Given the description of an element on the screen output the (x, y) to click on. 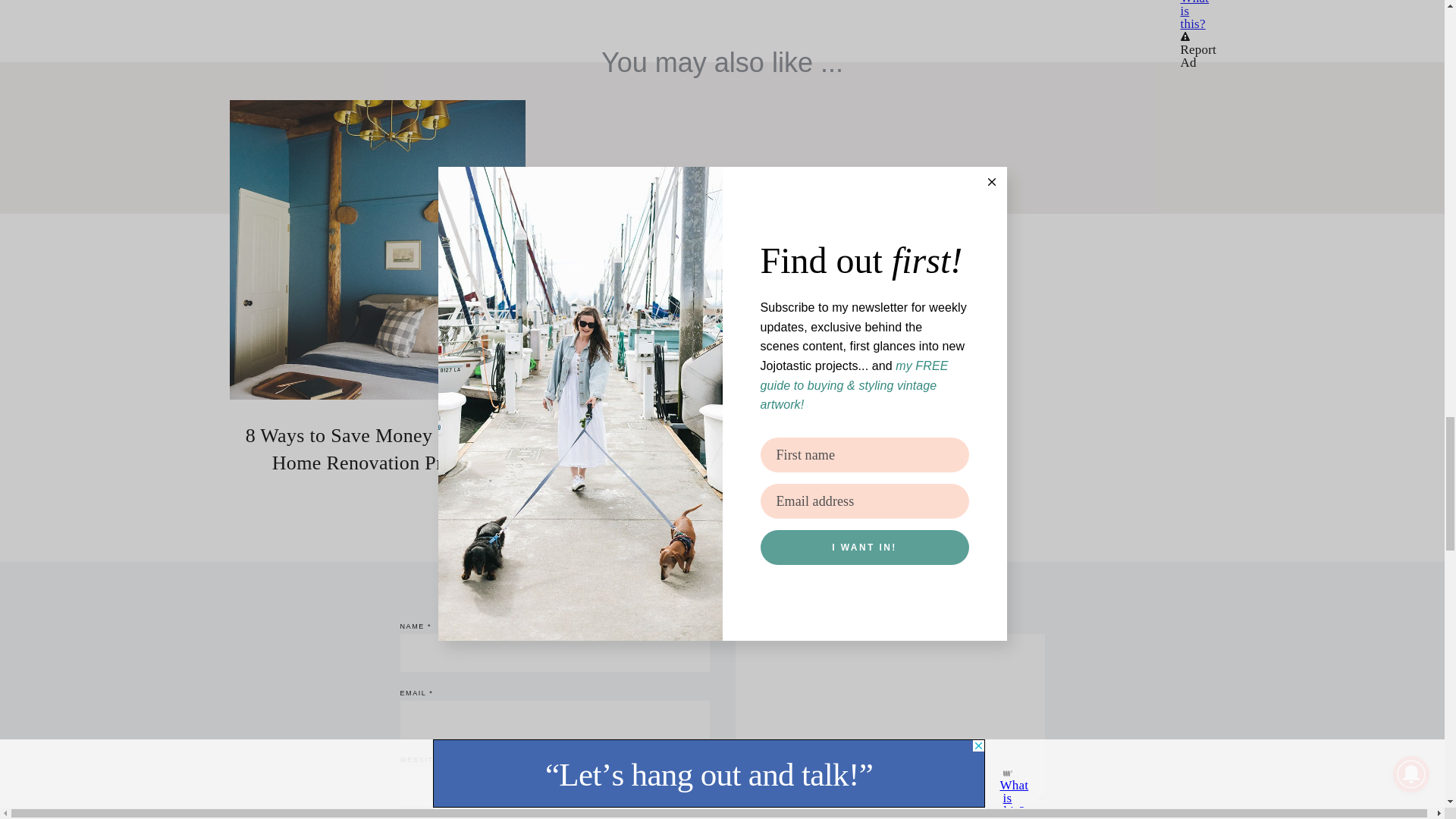
Submit (1004, 817)
